Given the description of an element on the screen output the (x, y) to click on. 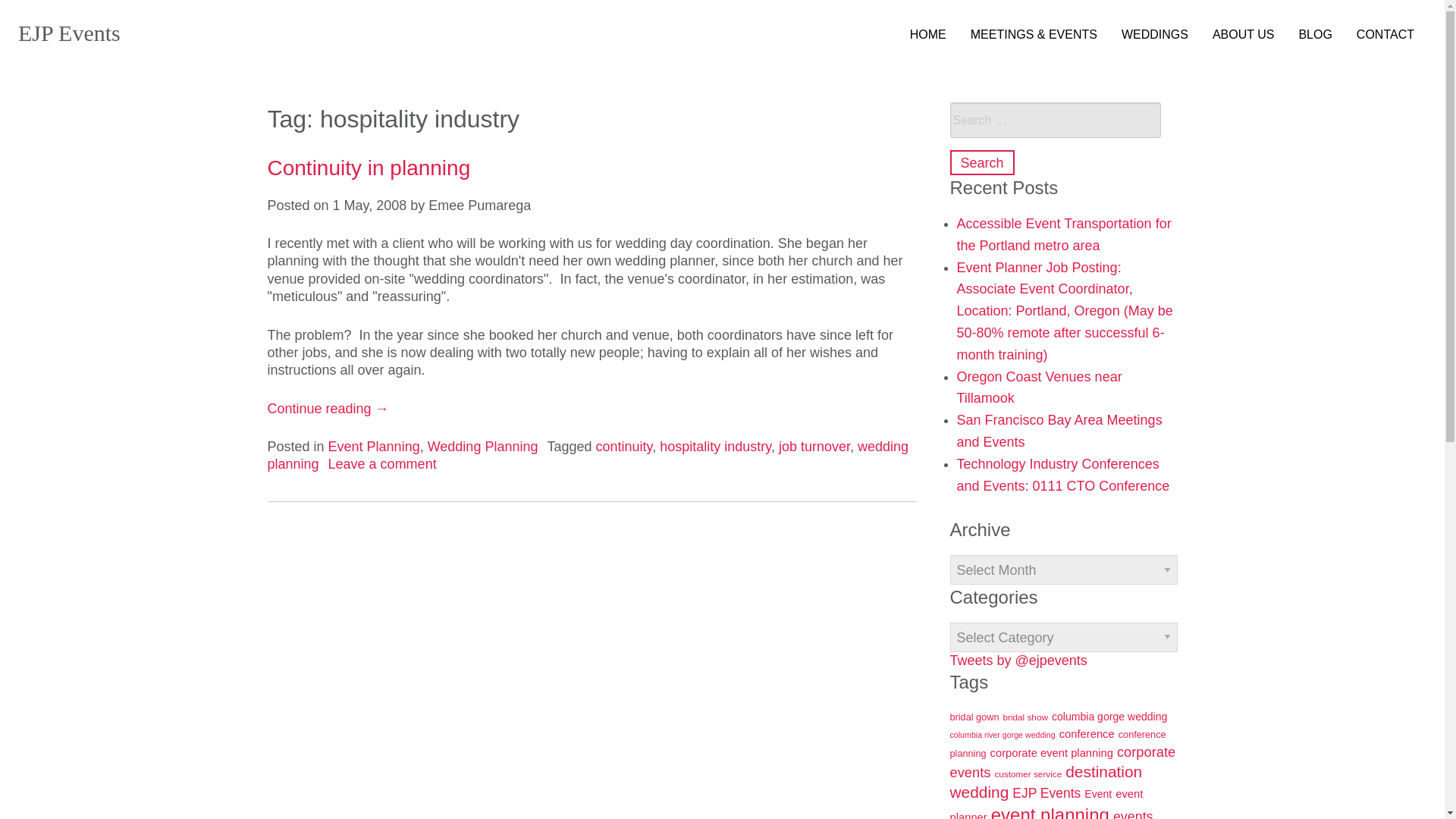
HOME (928, 34)
job turnover (814, 446)
WEDDINGS (1154, 34)
Accessible Event Transportation for the Portland metro area (1064, 234)
Event (1098, 793)
event planner (1045, 803)
EJP Events (1045, 792)
bridal show (1024, 716)
CONTACT (1384, 34)
